Given the description of an element on the screen output the (x, y) to click on. 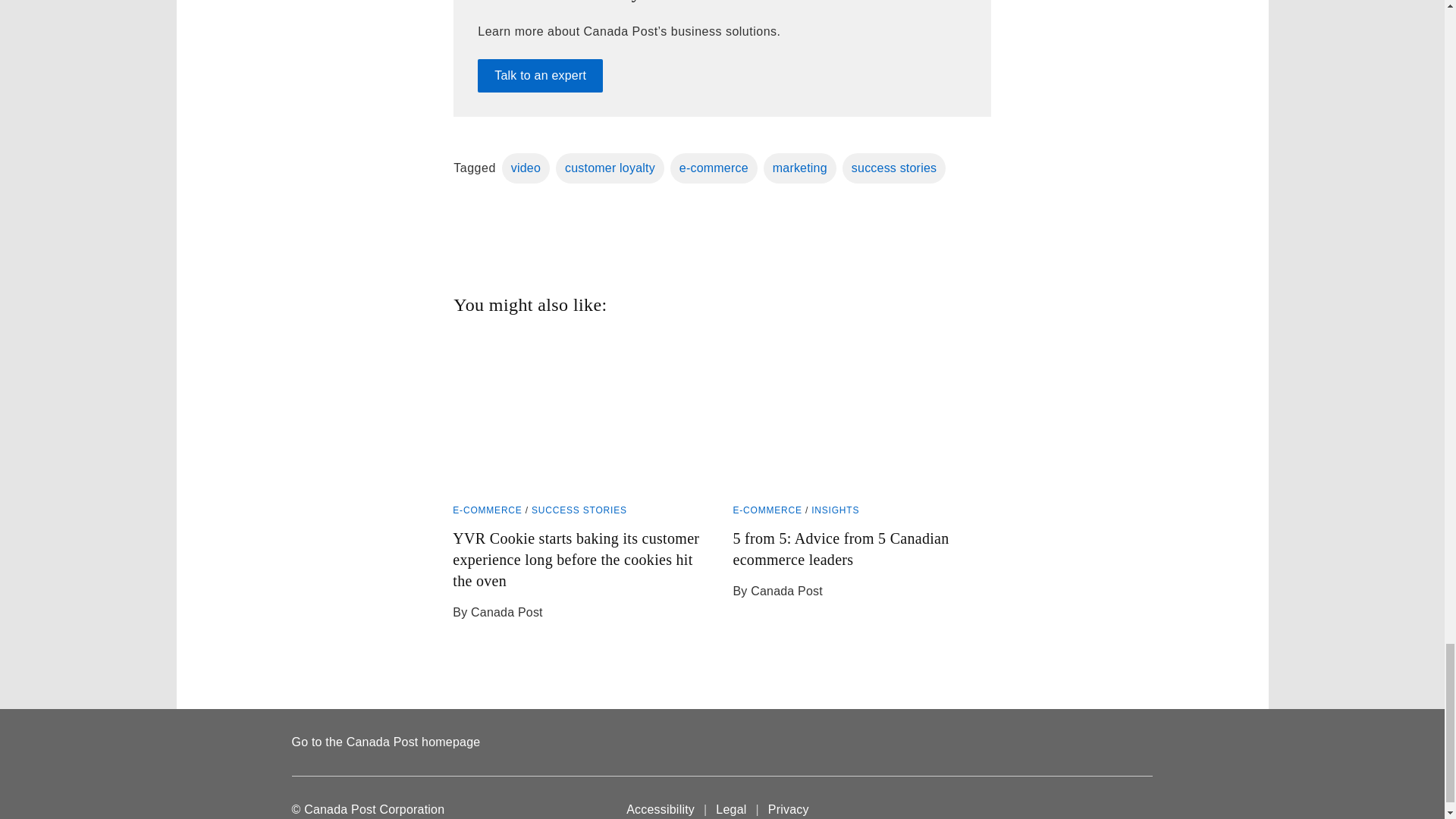
Canada (1123, 809)
video (526, 168)
Talk to an expert (539, 75)
customer loyalty (609, 168)
